Given the description of an element on the screen output the (x, y) to click on. 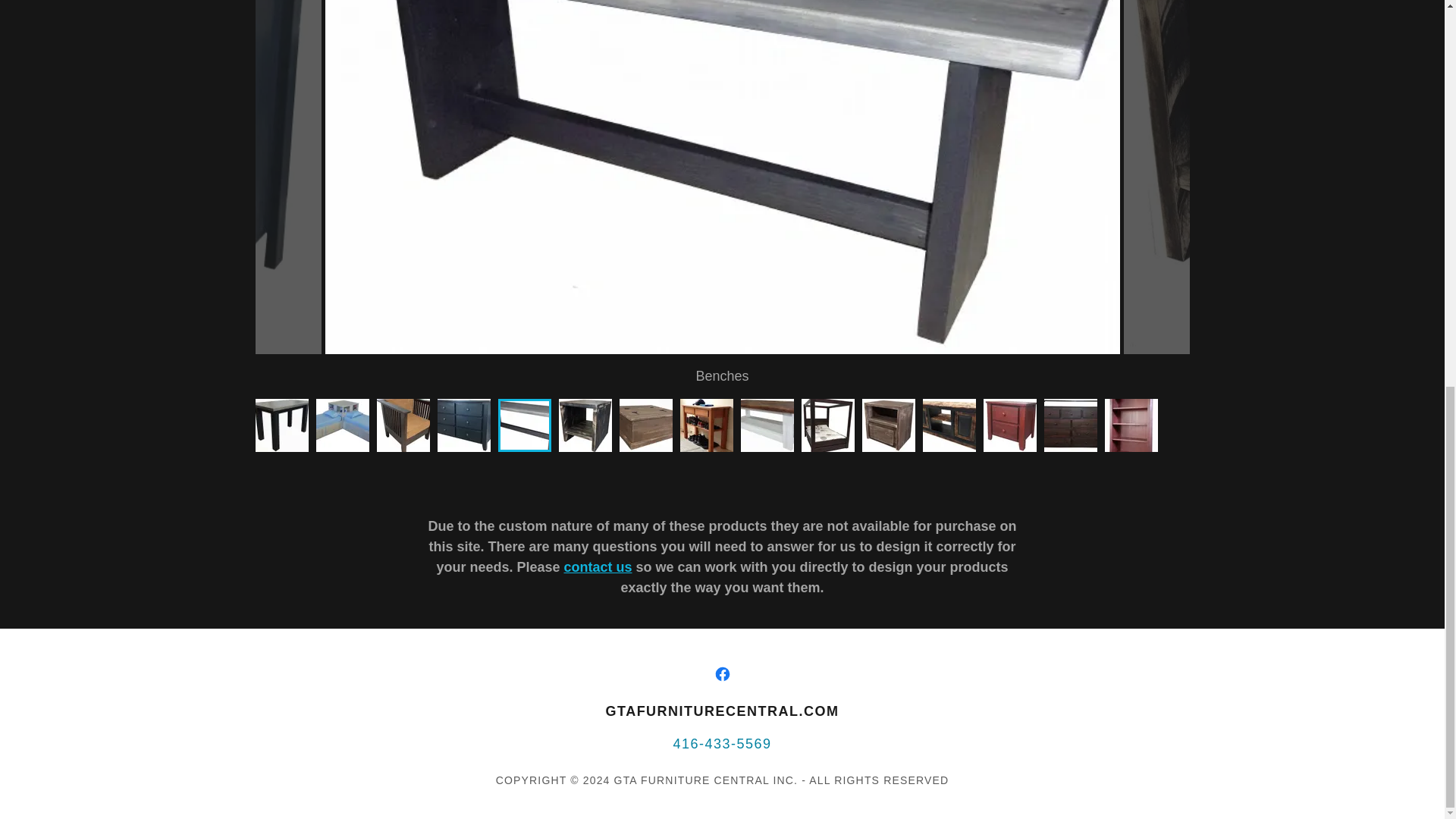
contact us (597, 566)
416-433-5569 (721, 743)
